Given the description of an element on the screen output the (x, y) to click on. 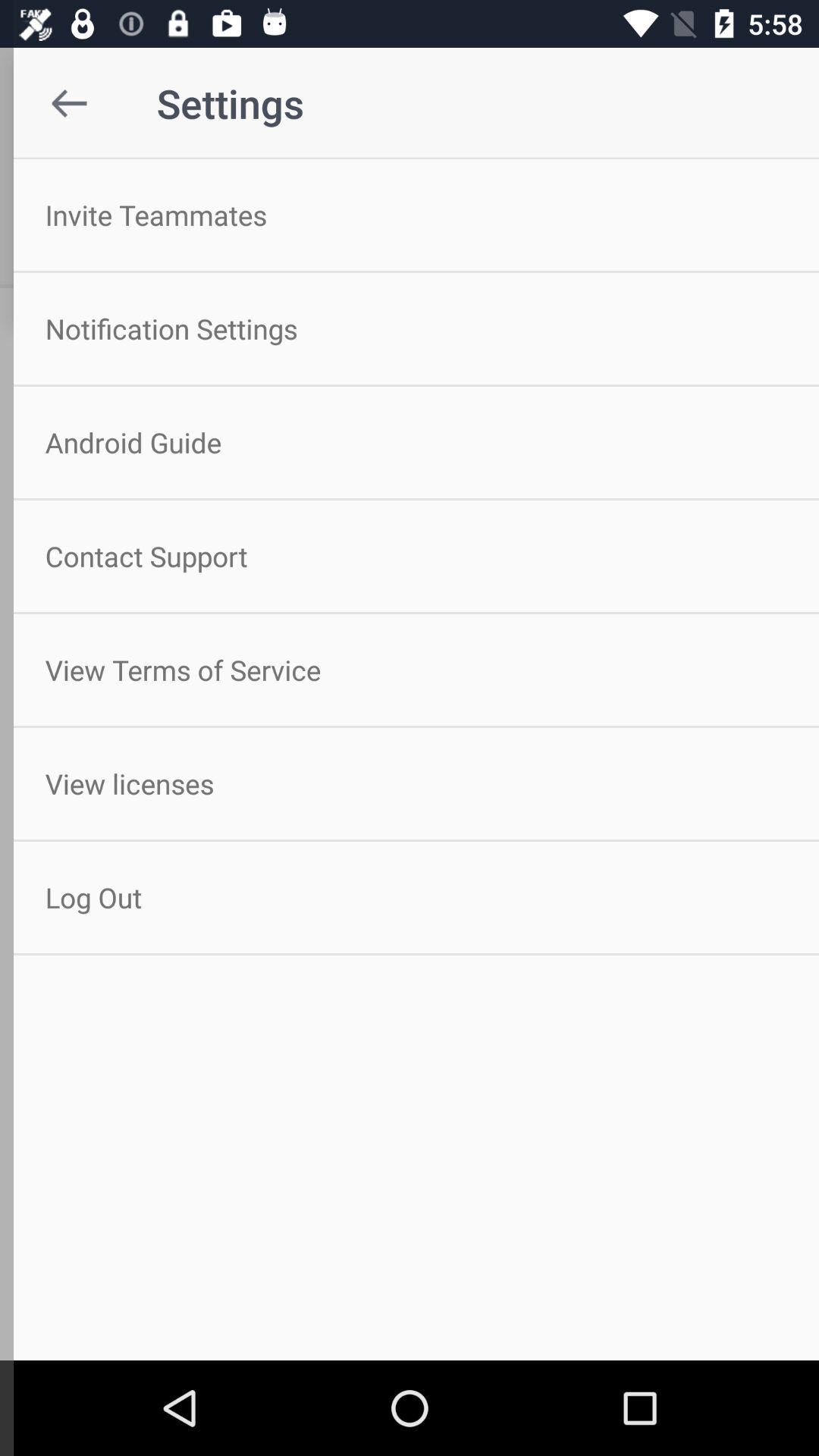
jump until view licenses (409, 783)
